Given the description of an element on the screen output the (x, y) to click on. 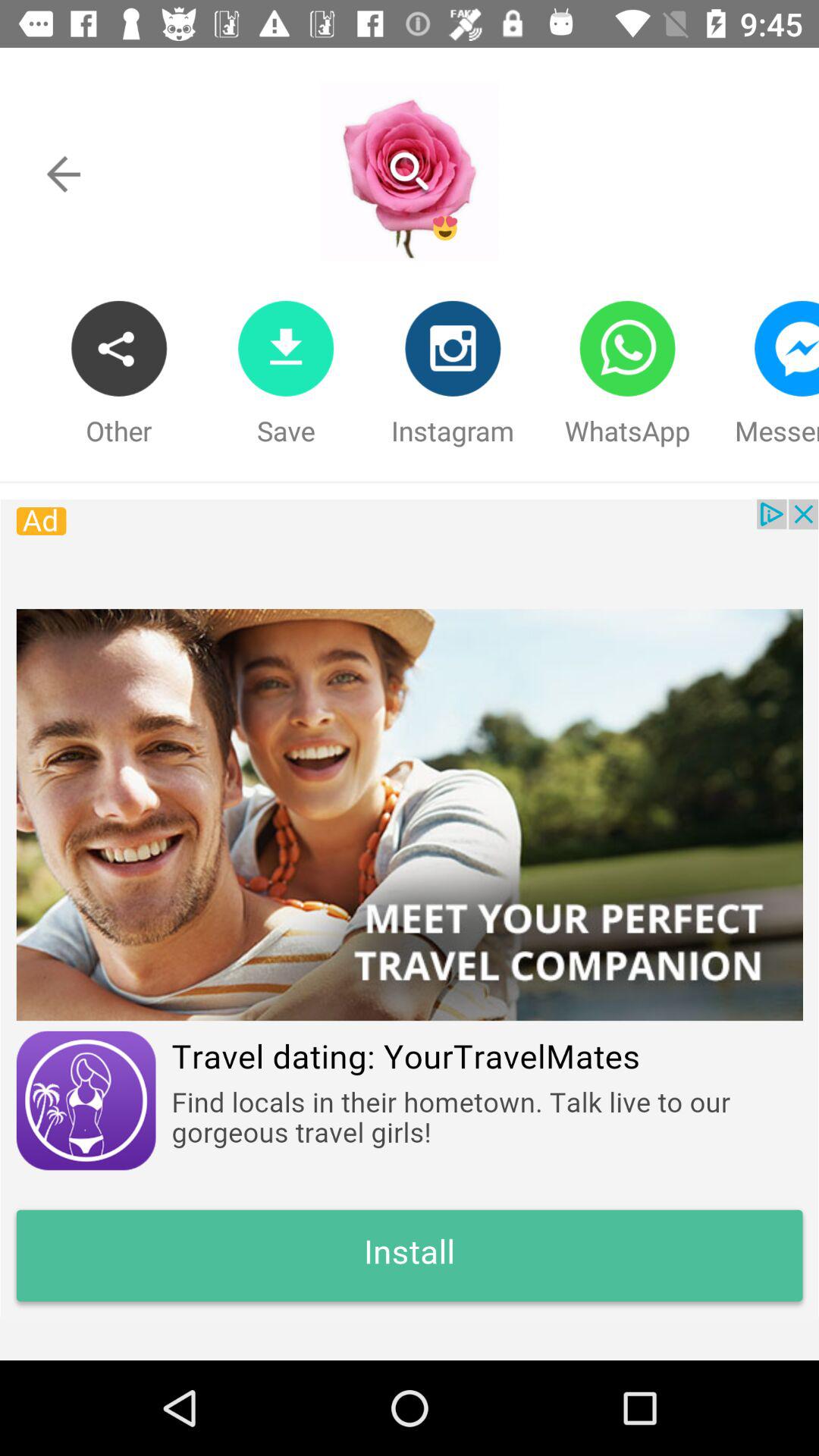
remove the add (409, 908)
